Given the description of an element on the screen output the (x, y) to click on. 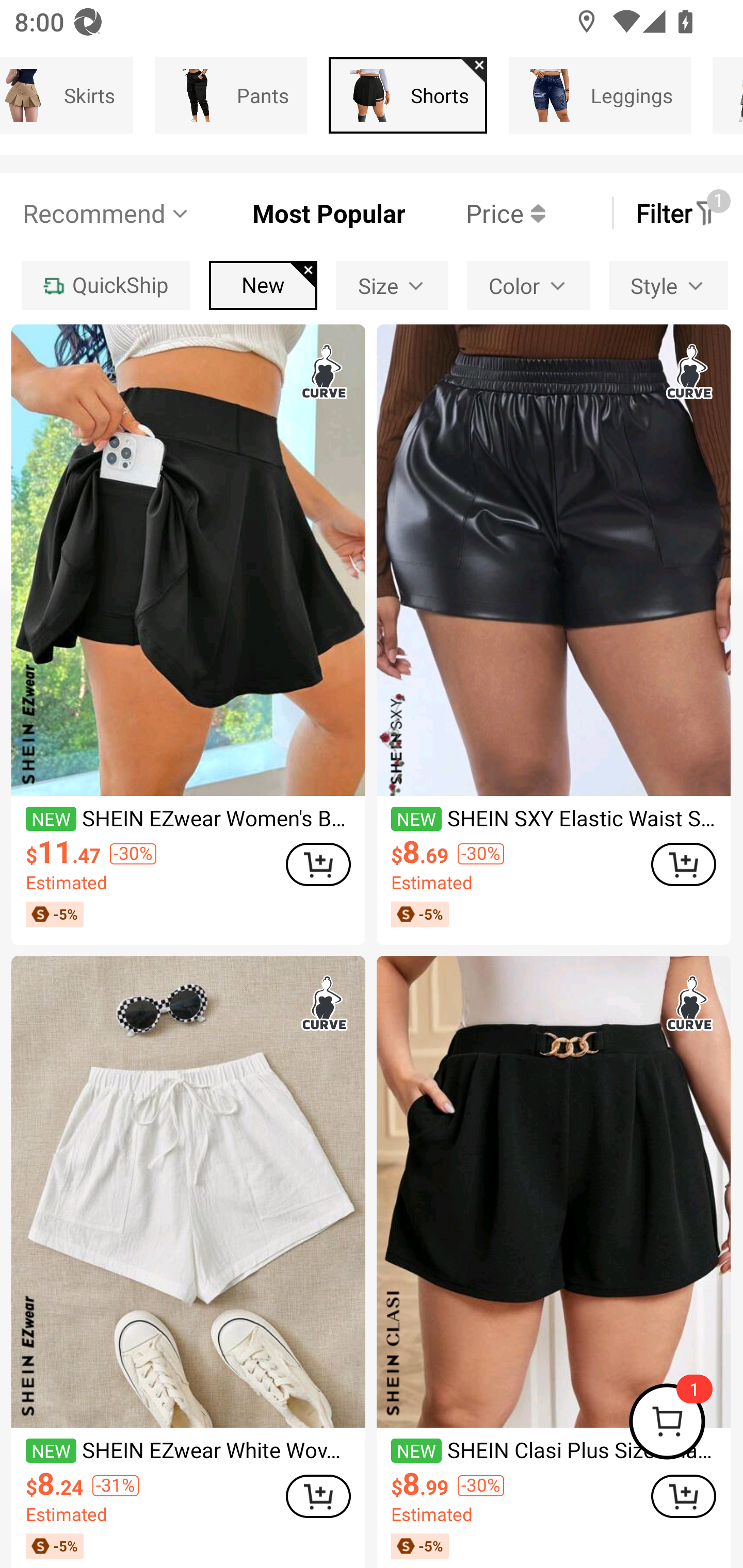
Skirts (66, 95)
Pants (230, 95)
Shorts (407, 95)
Leggings (599, 95)
Recommend (106, 213)
Most Popular (297, 213)
Price (474, 213)
Filter 1 (677, 213)
QuickShip (105, 285)
New (262, 285)
Size (391, 285)
Color (527, 285)
Style (668, 285)
ADD TO CART (318, 864)
ADD TO CART (683, 864)
ADD TO CART (318, 1495)
ADD TO CART (683, 1495)
